Given the description of an element on the screen output the (x, y) to click on. 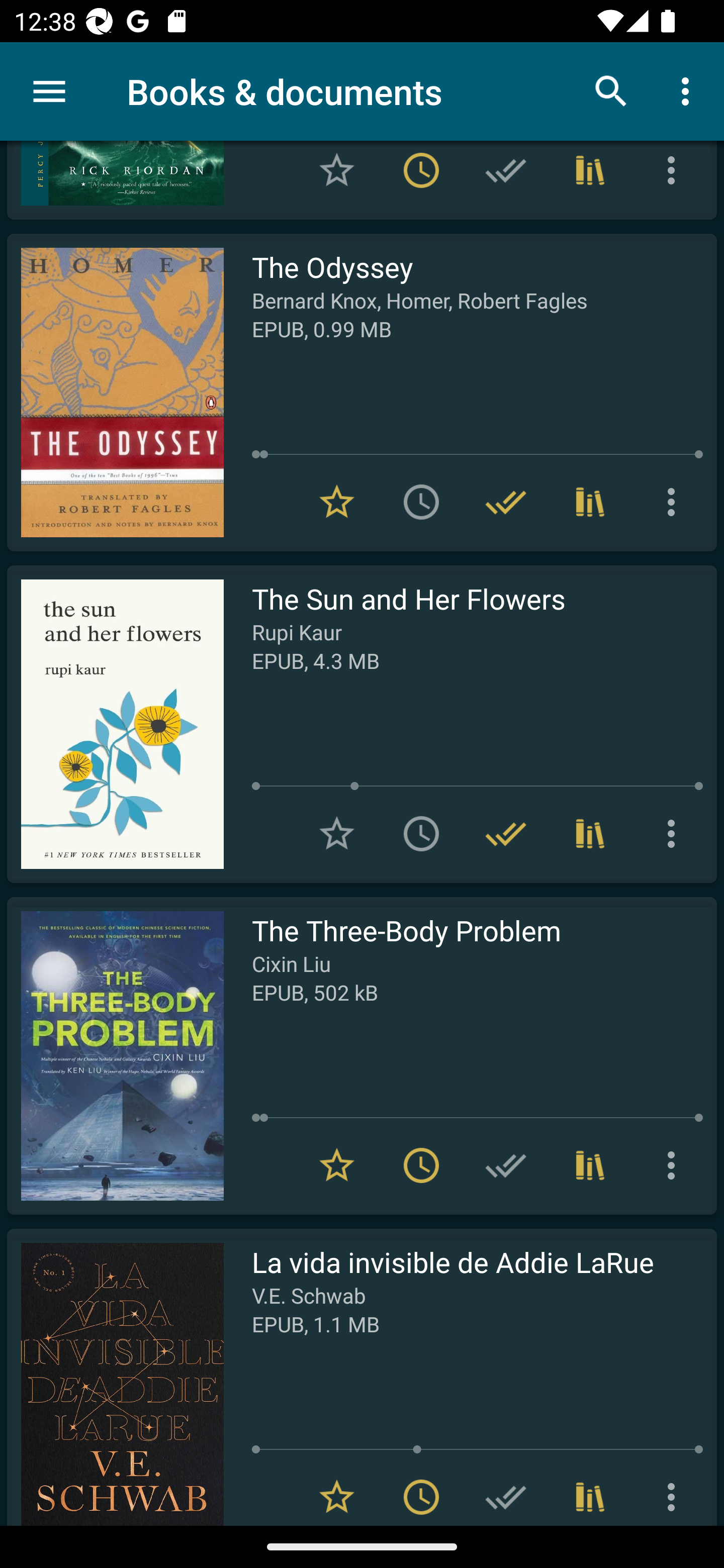
Menu (49, 91)
Search books & documents (611, 90)
More options (688, 90)
Add to Favorites (336, 177)
Remove from To read (421, 177)
Add to Have read (505, 177)
Collections (1) (590, 177)
More options (674, 177)
Read The Odyssey (115, 392)
Remove from Favorites (336, 501)
Add to To read (421, 501)
Remove from Have read (505, 501)
Collections (2) (590, 501)
More options (674, 501)
Read The Sun and Her Flowers (115, 724)
Add to Favorites (336, 833)
Add to To read (421, 833)
Remove from Have read (505, 833)
